Given the description of an element on the screen output the (x, y) to click on. 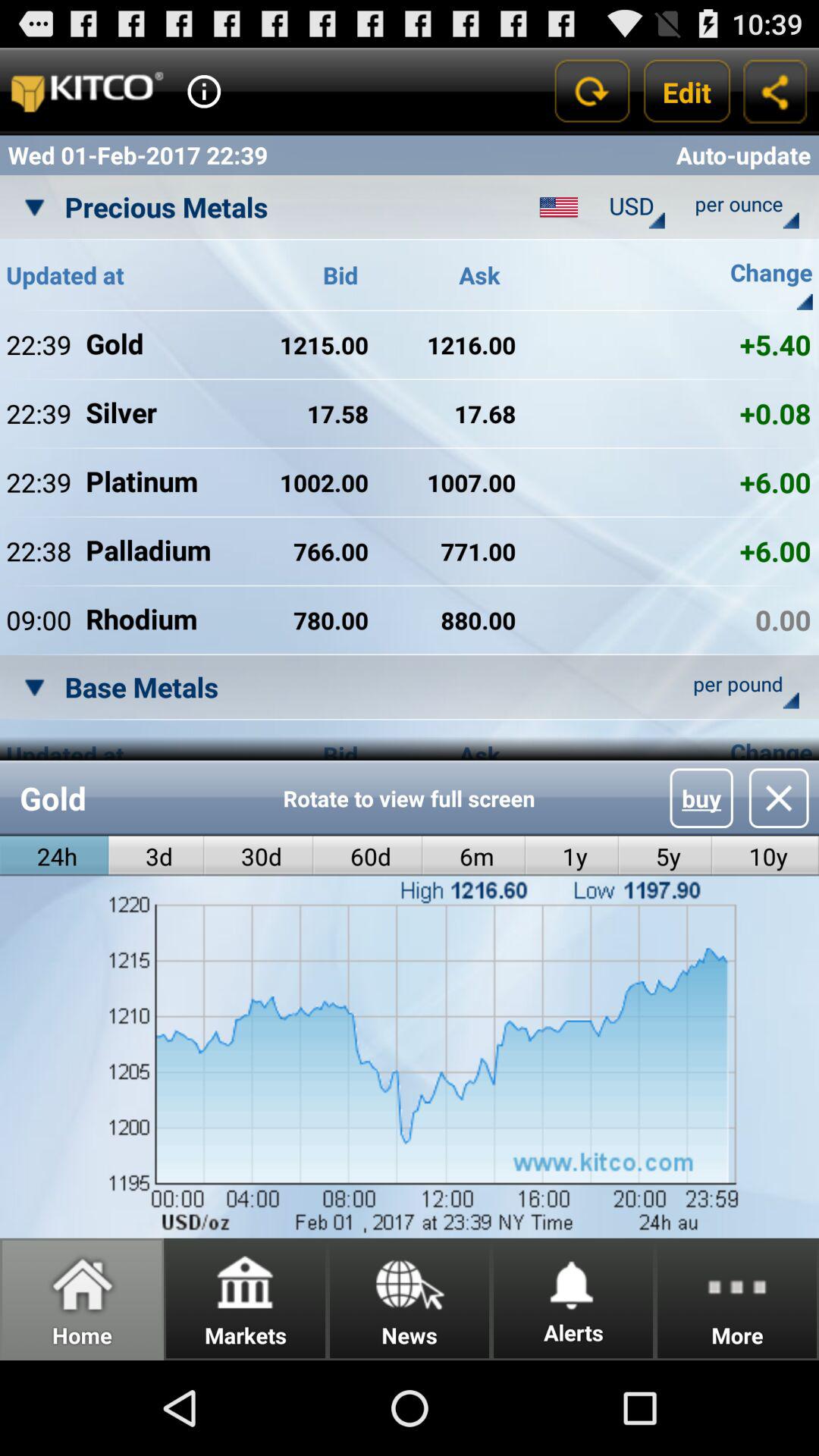
select radio button to the right of the 60d (473, 856)
